Given the description of an element on the screen output the (x, y) to click on. 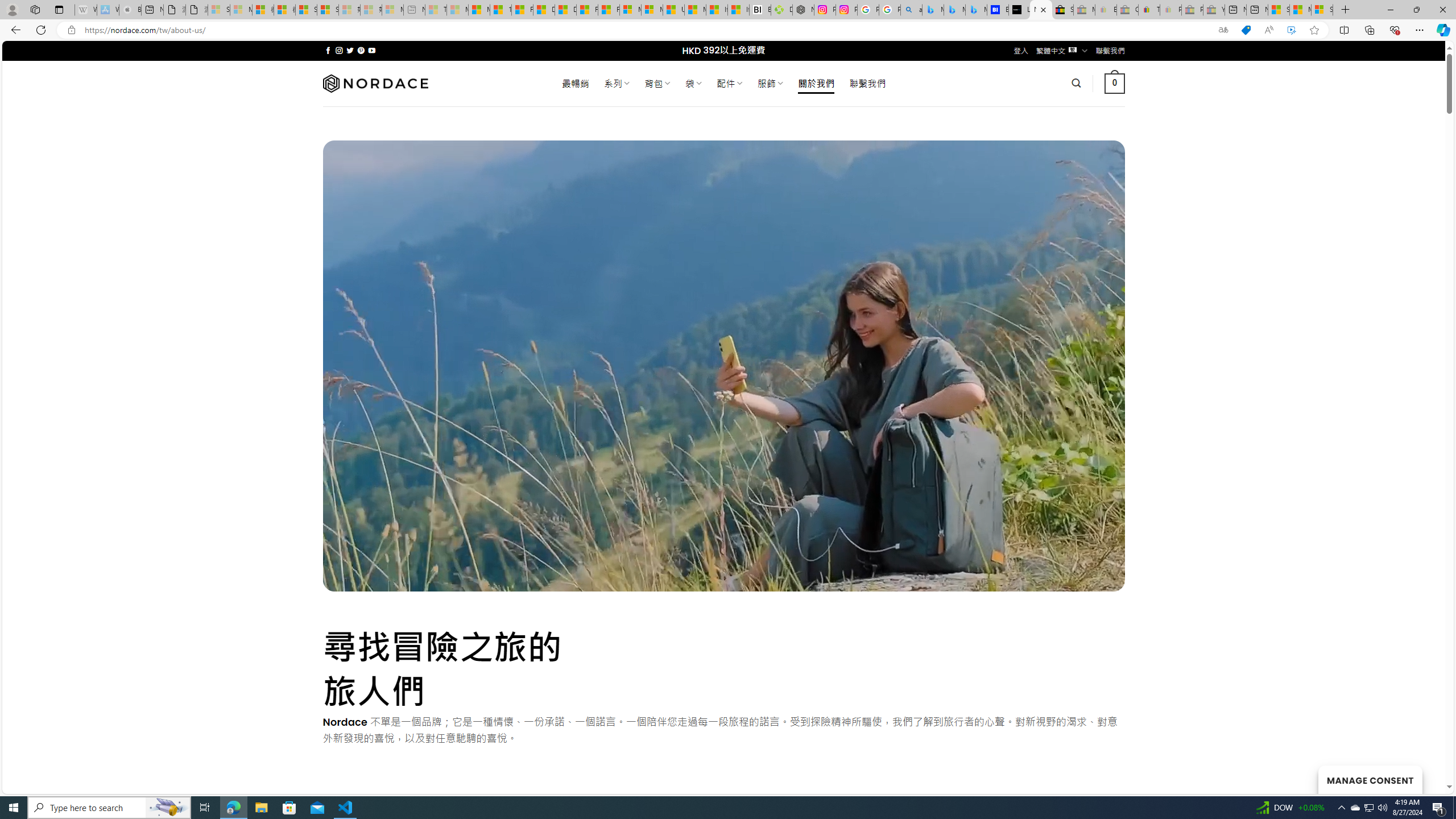
Selling on eBay | Electronics, Fashion, Home & Garden | eBay (1062, 9)
Foo BAR | Trusted Community Engagement and Contributions (608, 9)
 0  (1115, 83)
